Given the description of an element on the screen output the (x, y) to click on. 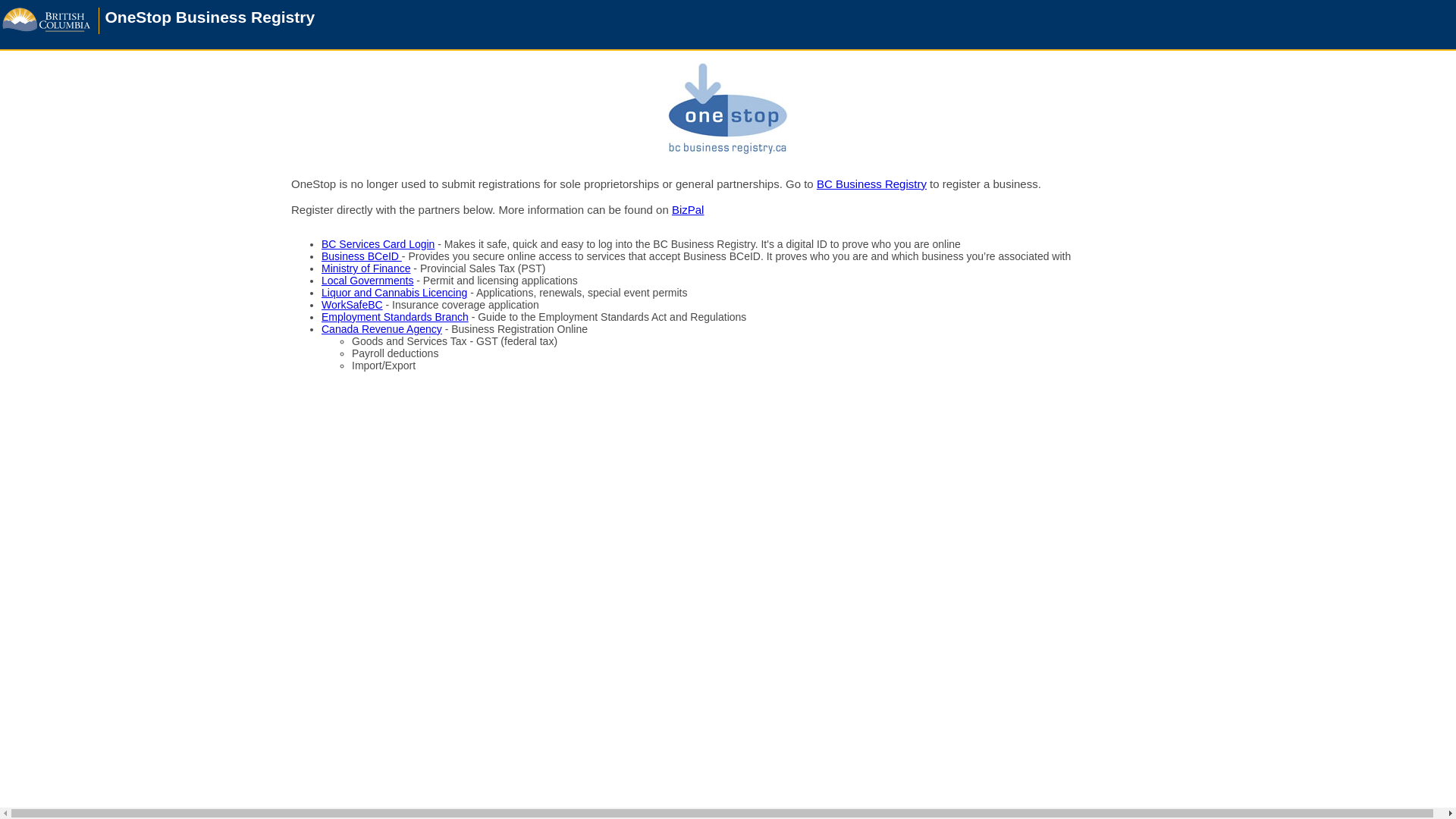
Canada Revenue Agency Element type: text (381, 329)
Liquor and Cannabis Licencing Element type: text (394, 292)
WorkSafeBC Element type: text (351, 304)
Ministry of Finance Element type: text (365, 268)
BizPal Element type: text (687, 209)
Business BCeID Element type: text (361, 256)
Employment Standards Branch Element type: text (394, 316)
BC Business Registry Element type: text (871, 183)
BC Services Card Login Element type: text (377, 244)
Local Governments Element type: text (367, 280)
